Given the description of an element on the screen output the (x, y) to click on. 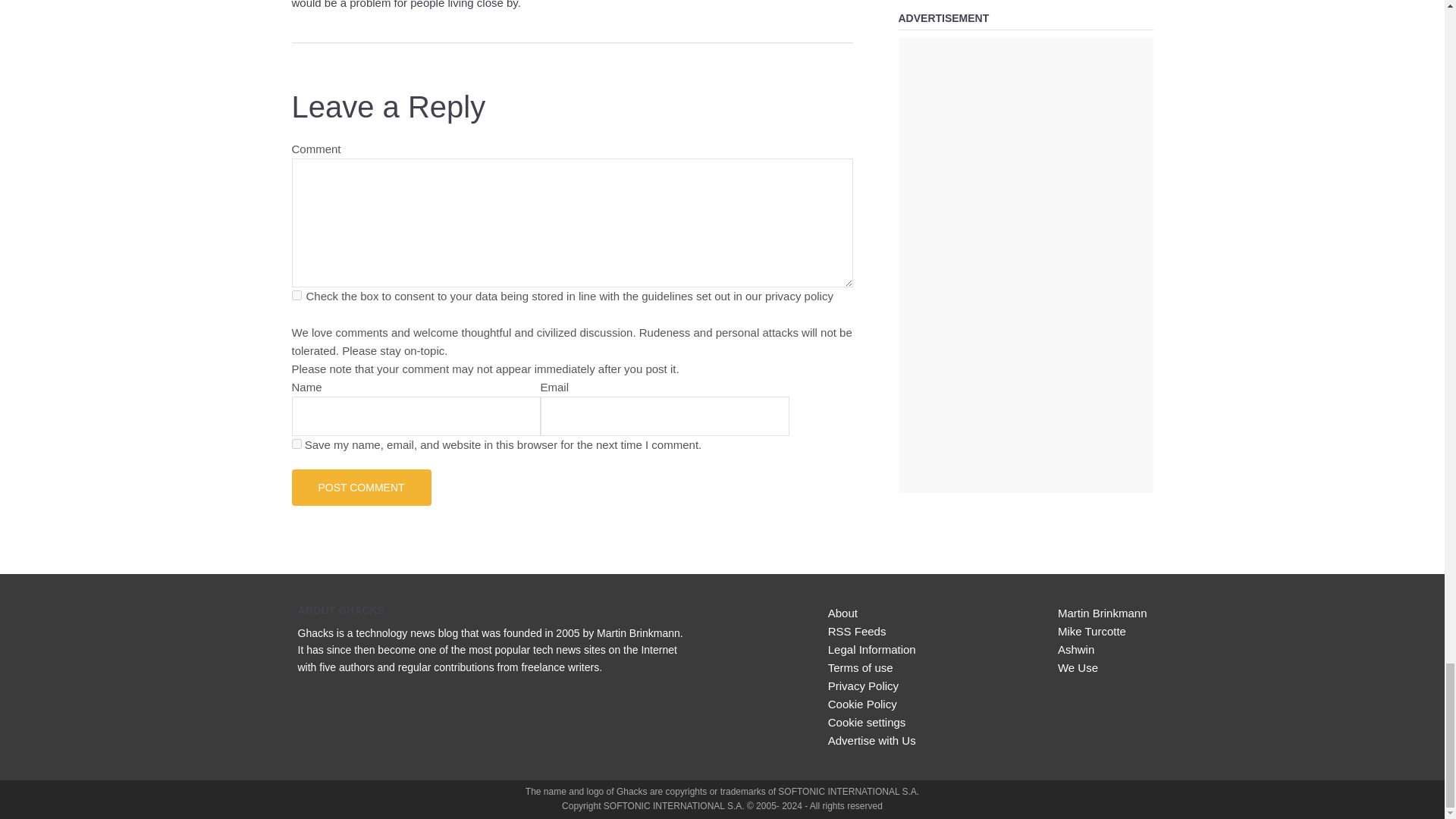
privacy-key (296, 295)
yes (296, 443)
Post Comment (360, 487)
